Given the description of an element on the screen output the (x, y) to click on. 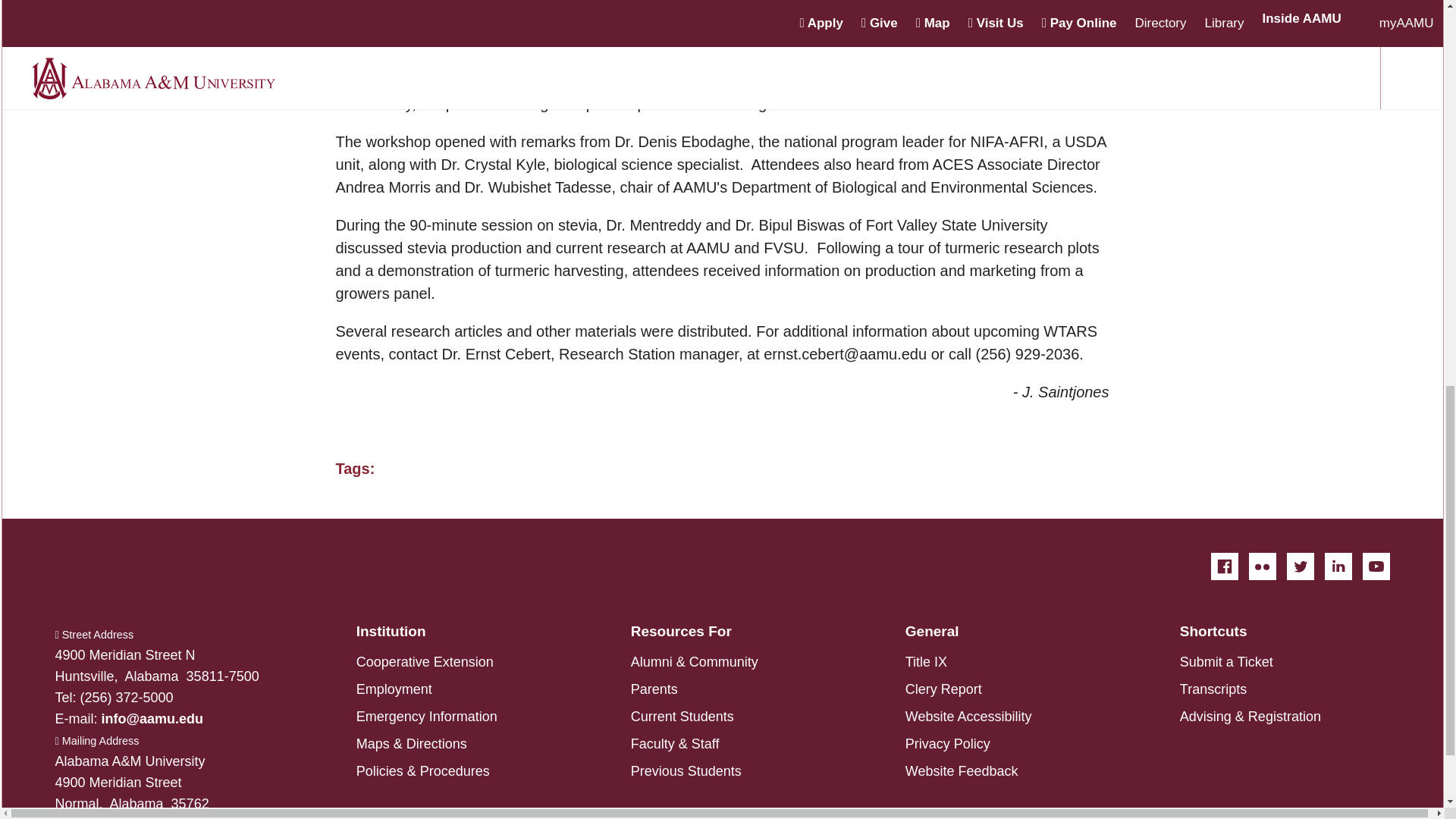
LinkedIn (1337, 565)
Facebook (1223, 565)
Twitter (1299, 565)
Flickr (1261, 565)
YouTube (1375, 565)
